Given the description of an element on the screen output the (x, y) to click on. 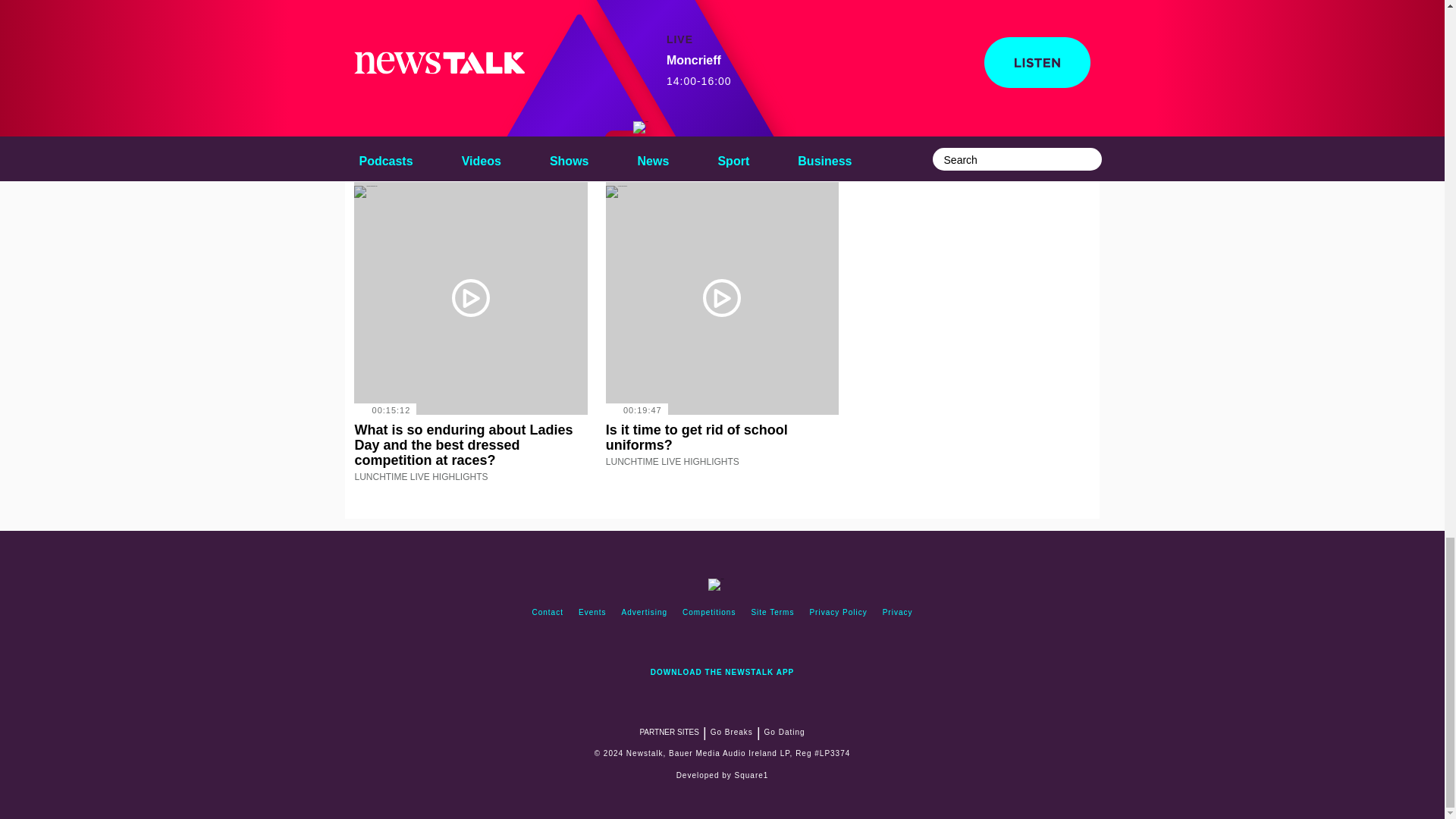
Privacy Policy (838, 612)
Privacy (897, 612)
events (592, 612)
contact (547, 612)
competitions (708, 612)
site terms (772, 612)
advertising (644, 612)
